Given the description of an element on the screen output the (x, y) to click on. 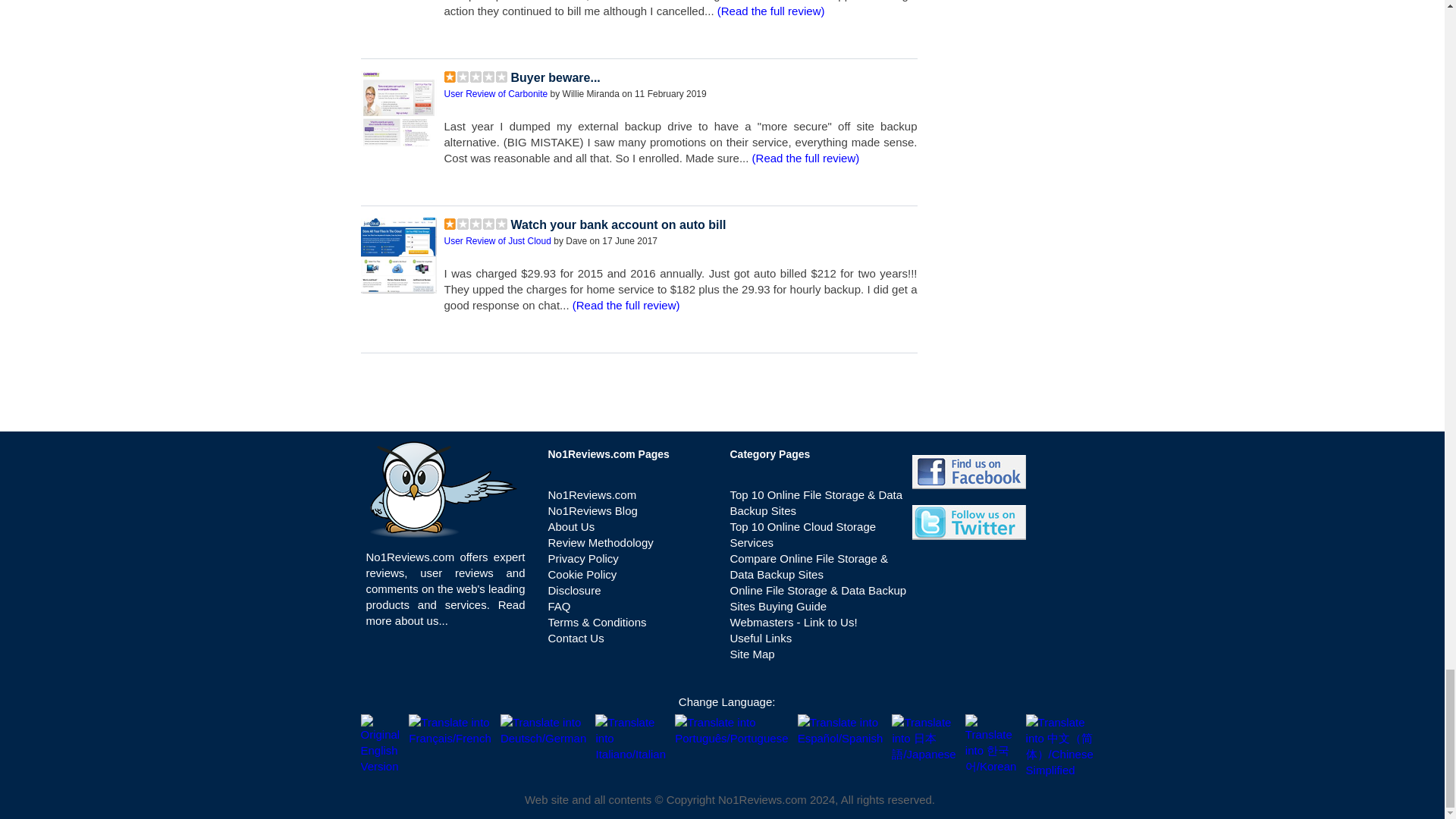
Original English Version (380, 743)
